Given the description of an element on the screen output the (x, y) to click on. 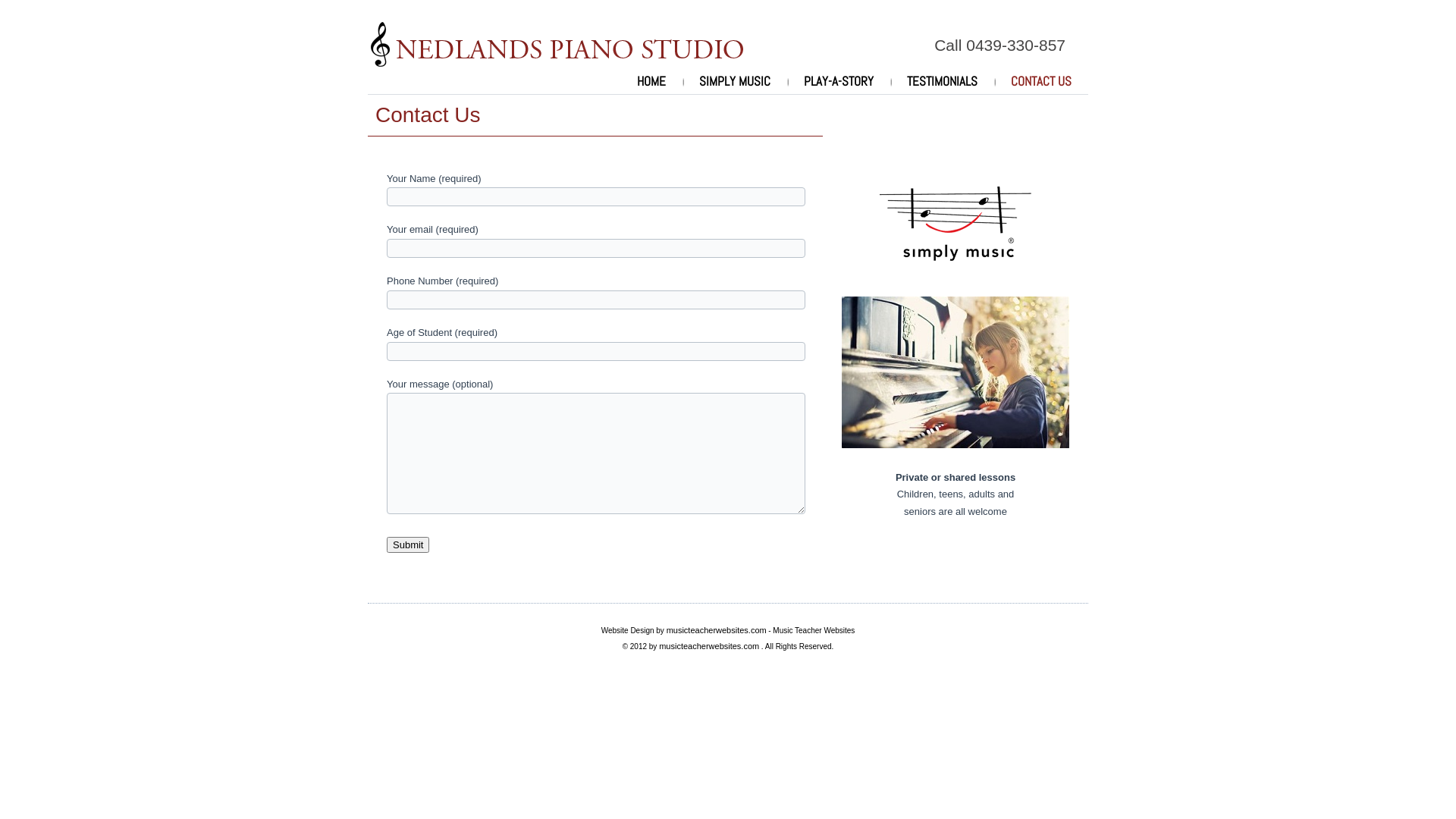
SIMPLY MUSIC Element type: text (734, 81)
HOME Element type: text (651, 81)
musicteacherwebsites.com Element type: text (708, 645)
PLAY-A-STORY Element type: text (838, 81)
TESTIMONIALS Element type: text (942, 81)
CONTACT US Element type: text (1040, 81)
Submit Element type: text (407, 544)
musicteacherwebsites.com Element type: text (716, 629)
